Given the description of an element on the screen output the (x, y) to click on. 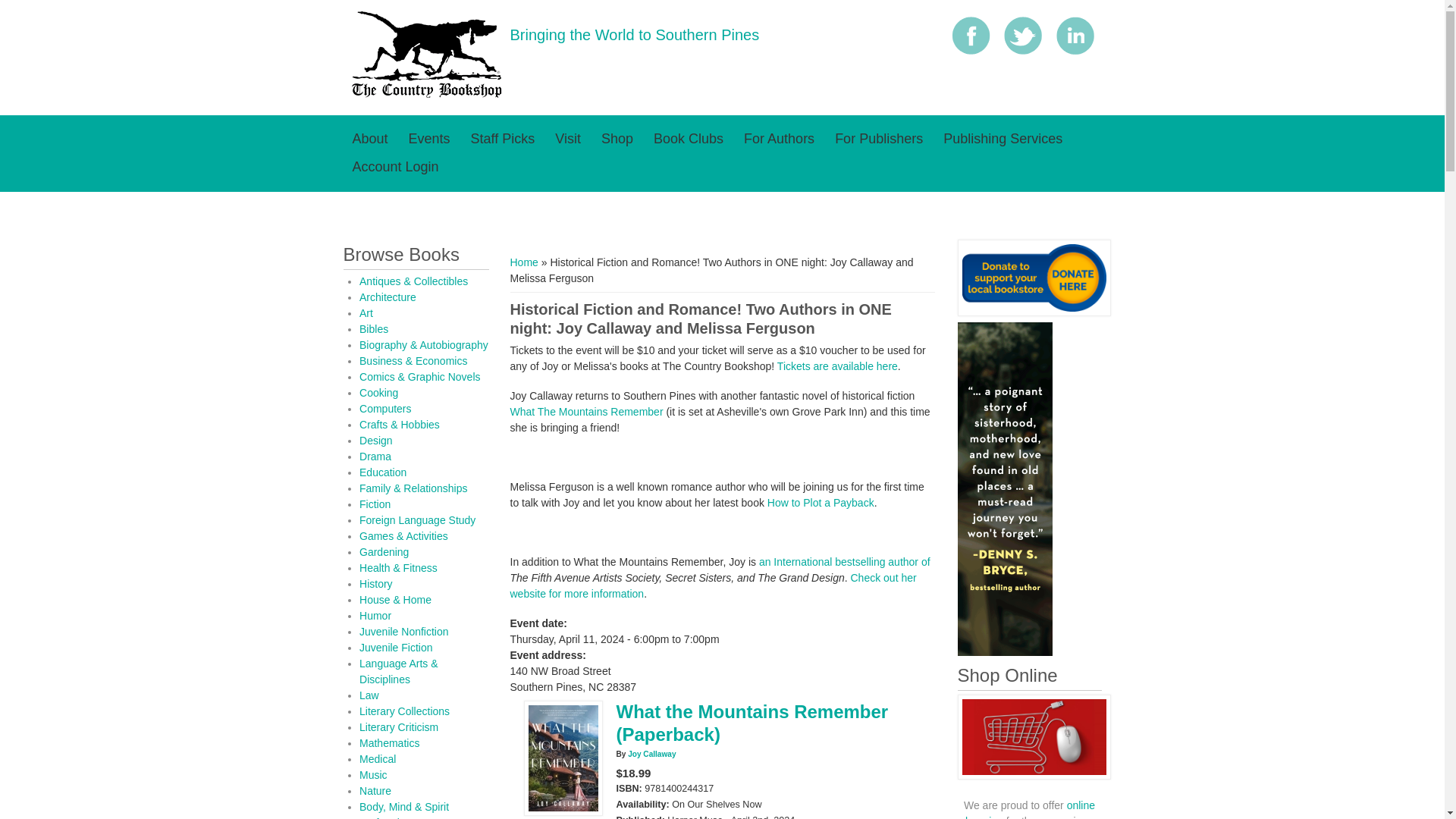
What The Mountains Remember (587, 411)
The Country Bookshop Publishing Services (1002, 139)
Visit (567, 139)
Tickets are available here (837, 366)
For Authors (779, 139)
Staff Picks (502, 139)
Check out her website for more information (712, 585)
Shop (617, 139)
Learn more about The Country Bookshop! (369, 139)
How to Plot a Payback (821, 502)
an International bestselling author of (844, 562)
Register your book club with The Country Bookshop!  (688, 139)
Book Clubs (688, 139)
Home (426, 95)
